Given the description of an element on the screen output the (x, y) to click on. 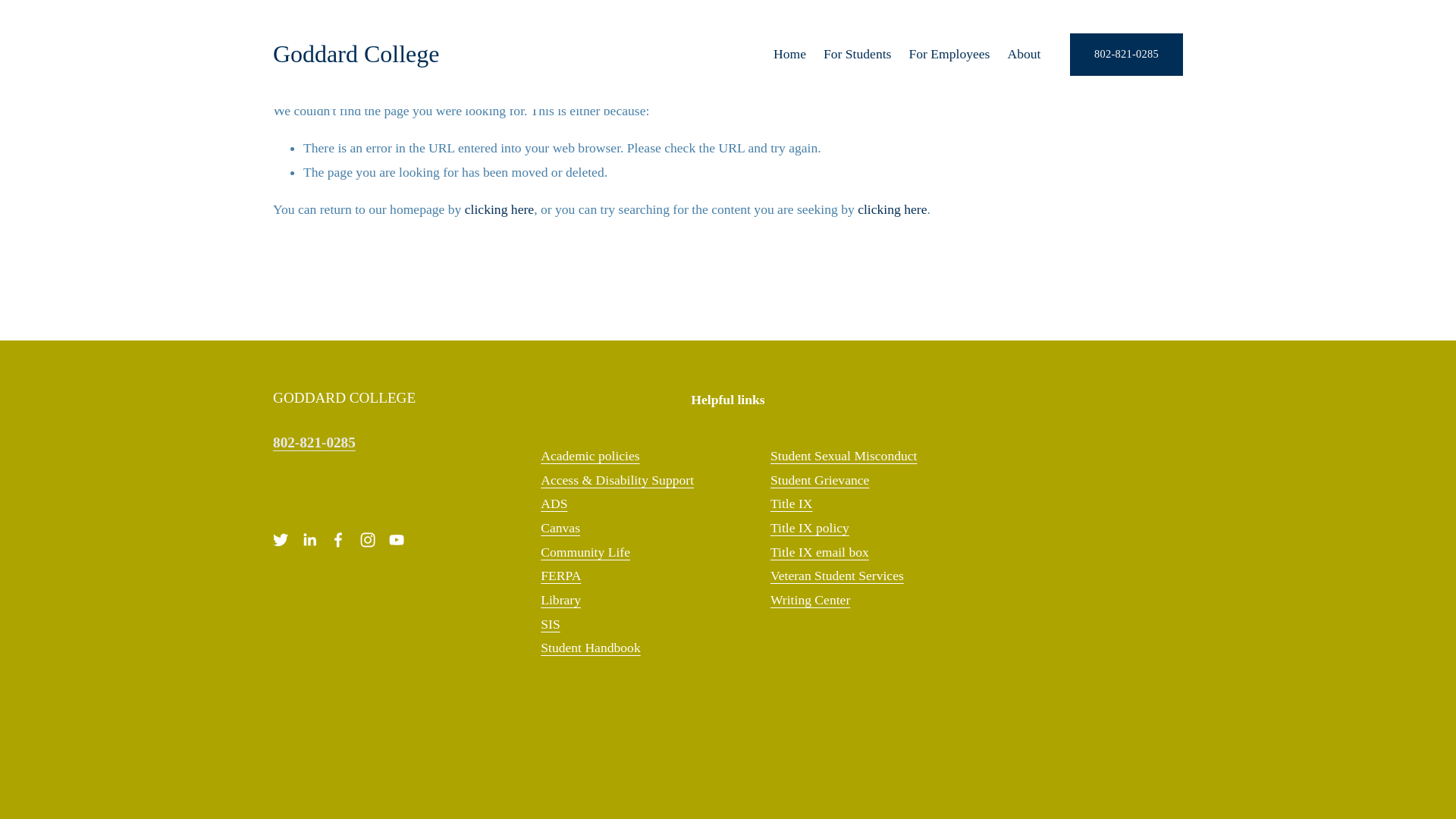
For Students (857, 53)
Student Handbook (590, 648)
Student Sexual Misconduct (843, 456)
FERPA (560, 576)
802-821-0285 (1126, 54)
ADS (553, 504)
Academic policies (589, 456)
Canvas (559, 528)
Student Grievance (819, 480)
clicking here (499, 209)
